Given the description of an element on the screen output the (x, y) to click on. 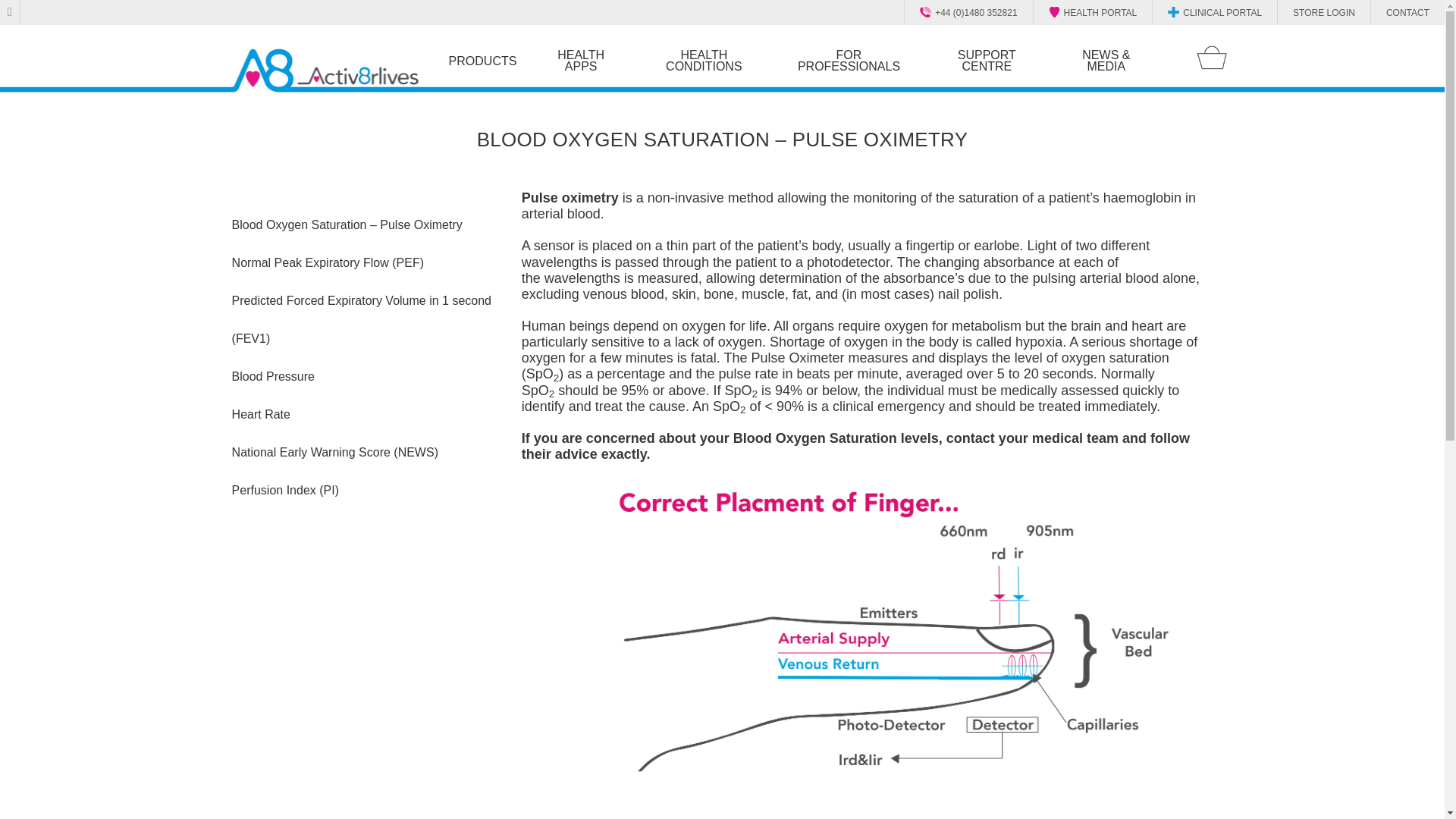
Products (483, 59)
HEALTH PORTAL (1094, 11)
SUPPORT CENTRE (986, 60)
HEALTH CONDITIONS (703, 60)
Blood Pressure (363, 376)
For Professionals (848, 60)
CONTACT (1401, 11)
Blood Pressure (363, 376)
My Cart (1211, 57)
Support Centre (986, 60)
